Given the description of an element on the screen output the (x, y) to click on. 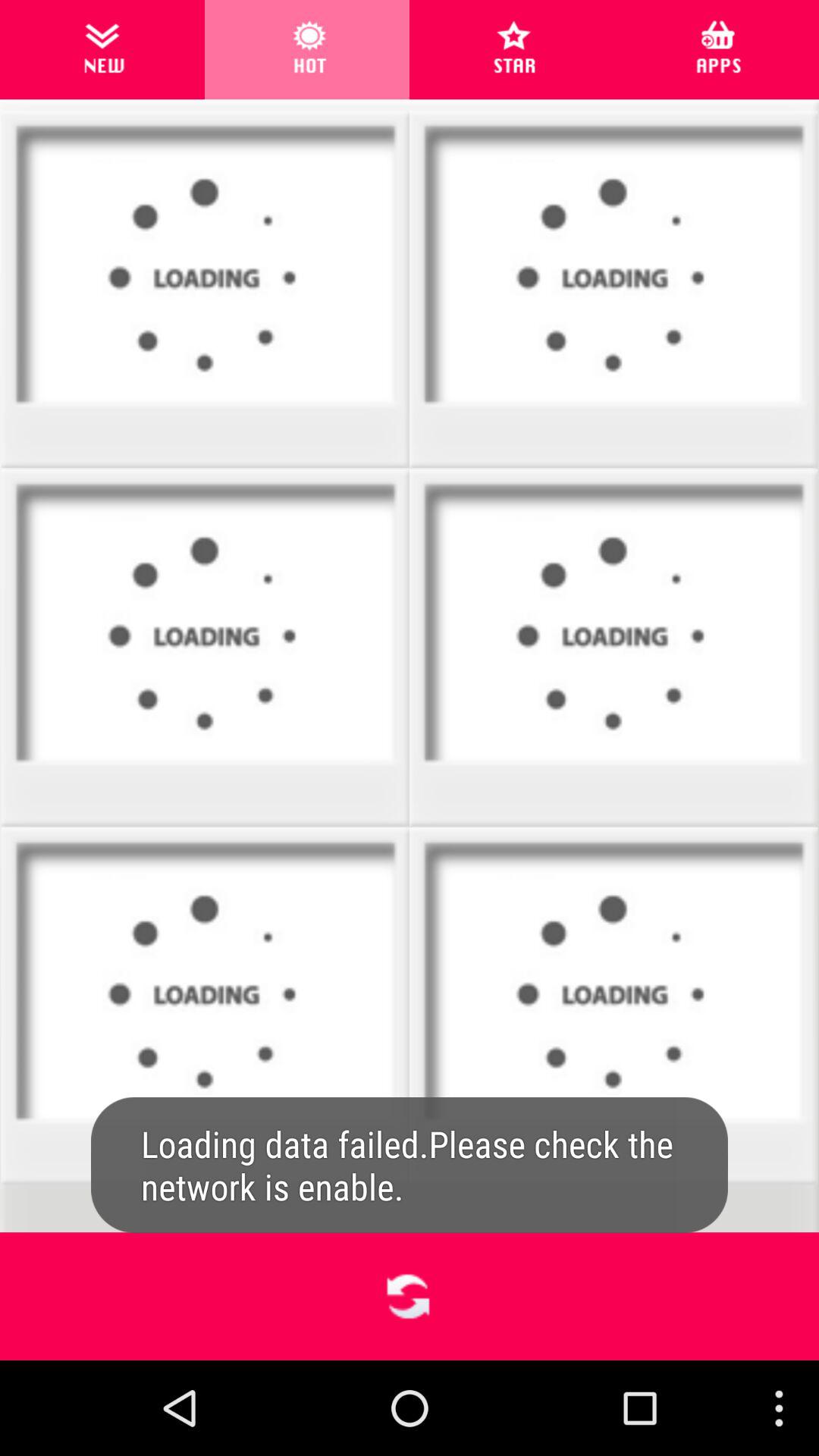
refresh page (409, 1296)
